Given the description of an element on the screen output the (x, y) to click on. 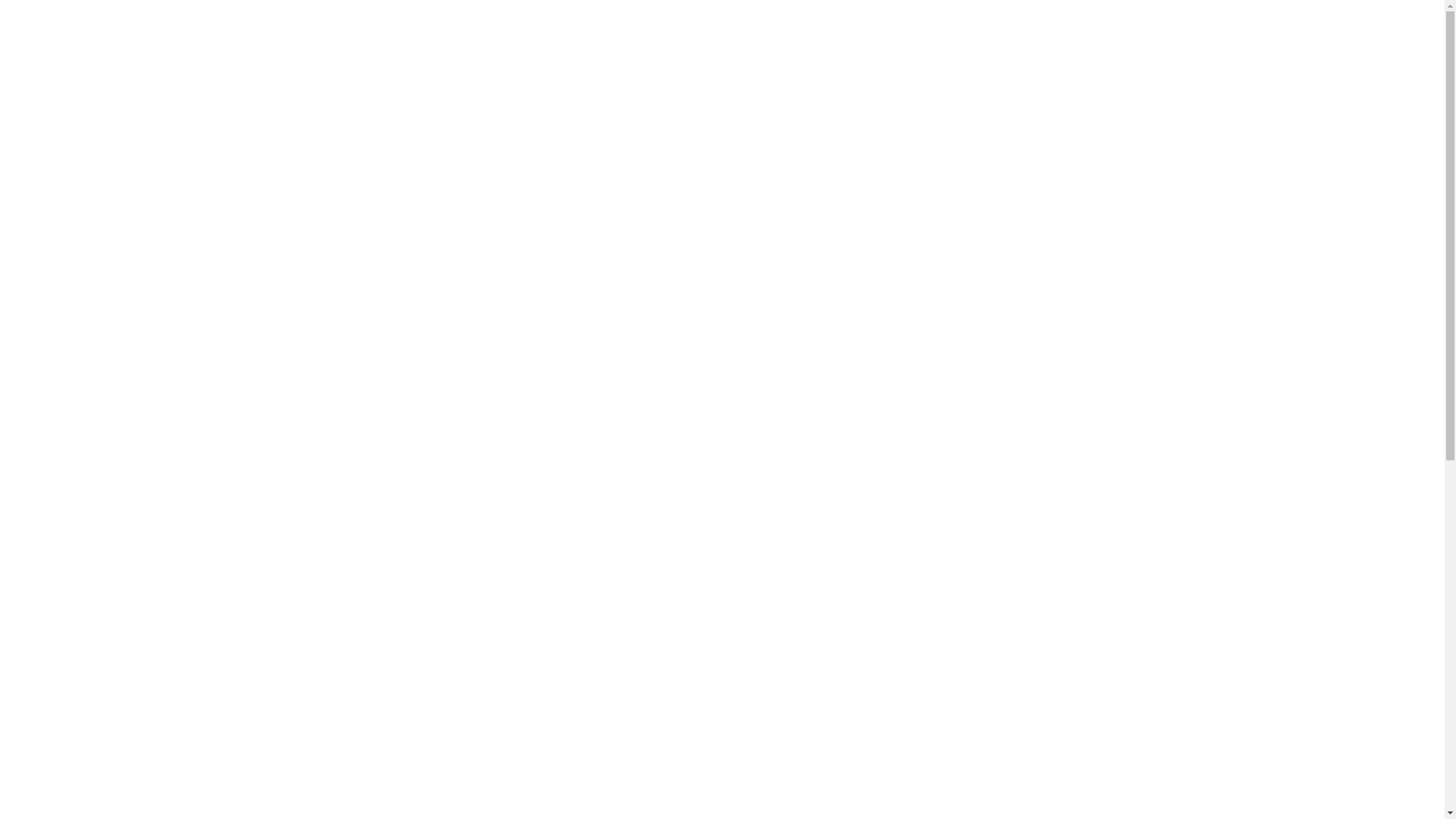
ABOUT US Element type: text (821, 90)
SV Element type: text (1016, 149)
FAQ Element type: text (927, 90)
GROUP BOOKINGS Element type: text (471, 90)
MENU Element type: text (610, 90)
DA Element type: text (1016, 119)
NEWS Element type: text (708, 90)
